Given the description of an element on the screen output the (x, y) to click on. 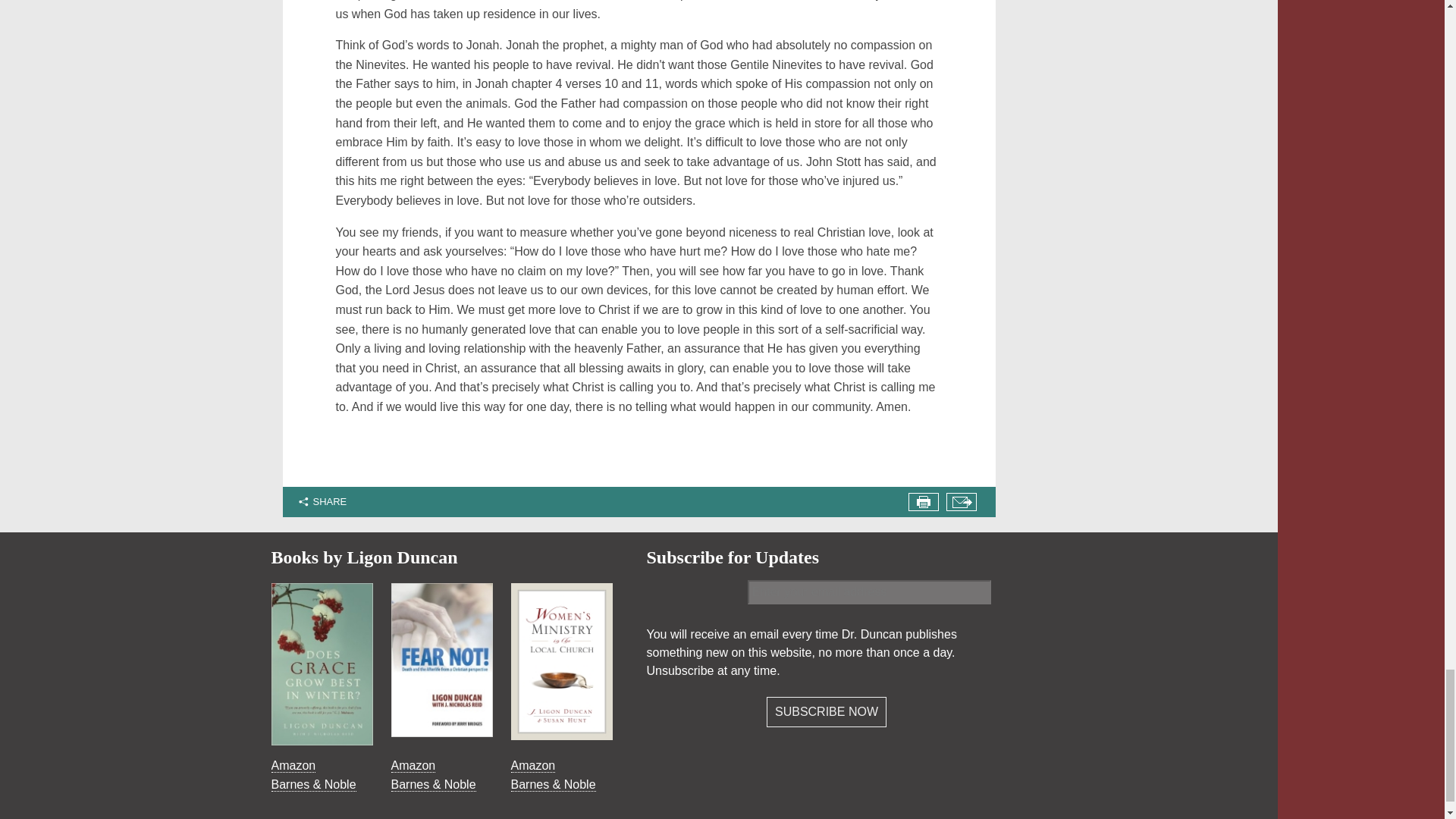
Amazon (533, 766)
Subscribe Now (826, 711)
Amazon (413, 766)
Amazon (292, 766)
Subscribe Now (826, 711)
